Given the description of an element on the screen output the (x, y) to click on. 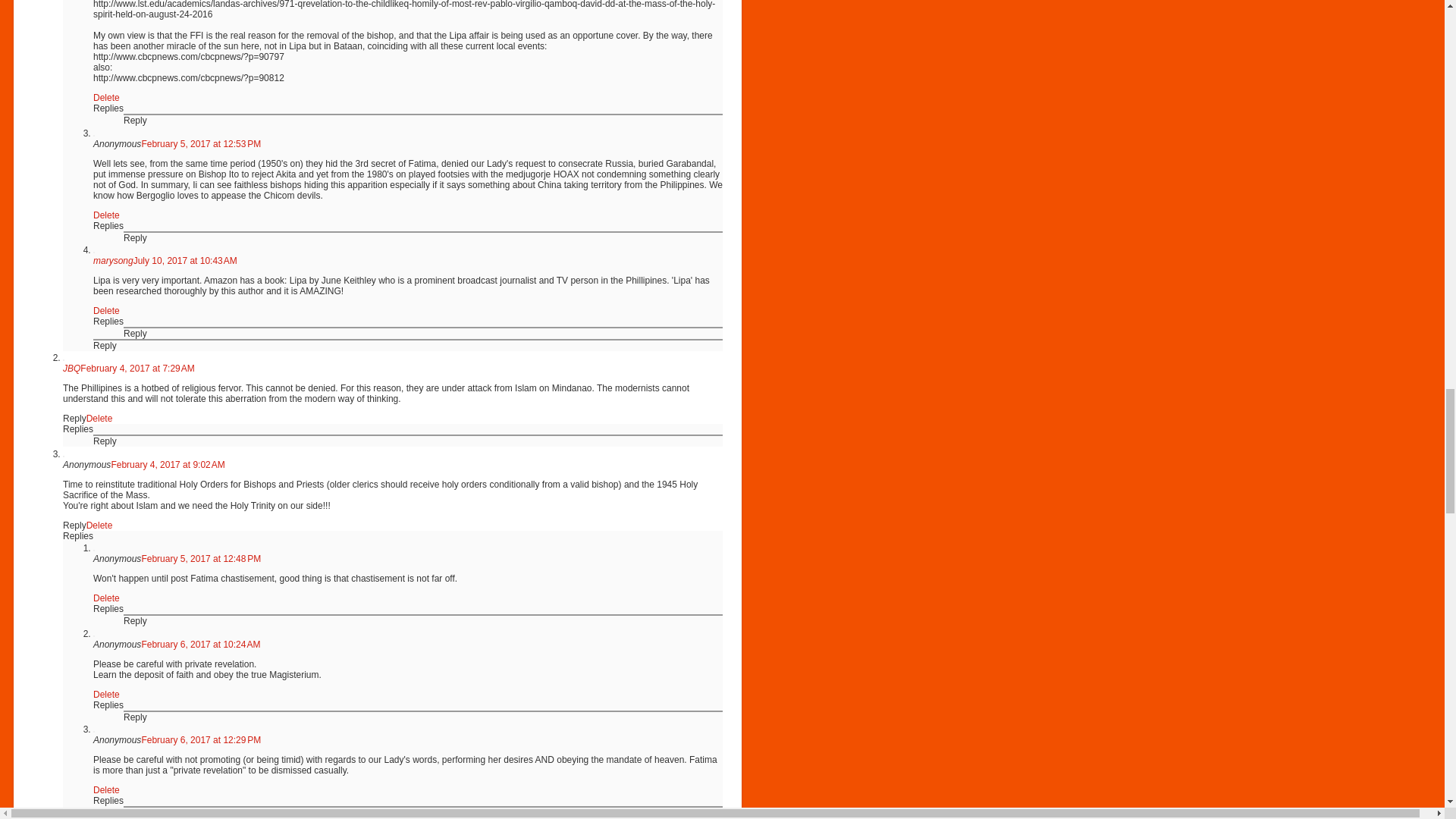
Replies (108, 225)
Delete (106, 97)
Delete (106, 214)
Reply (135, 120)
Reply (135, 237)
Replies (108, 108)
Replies (108, 321)
marysong (113, 260)
Reply (135, 333)
Reply (104, 345)
JBQ (71, 368)
Delete (106, 310)
